Given the description of an element on the screen output the (x, y) to click on. 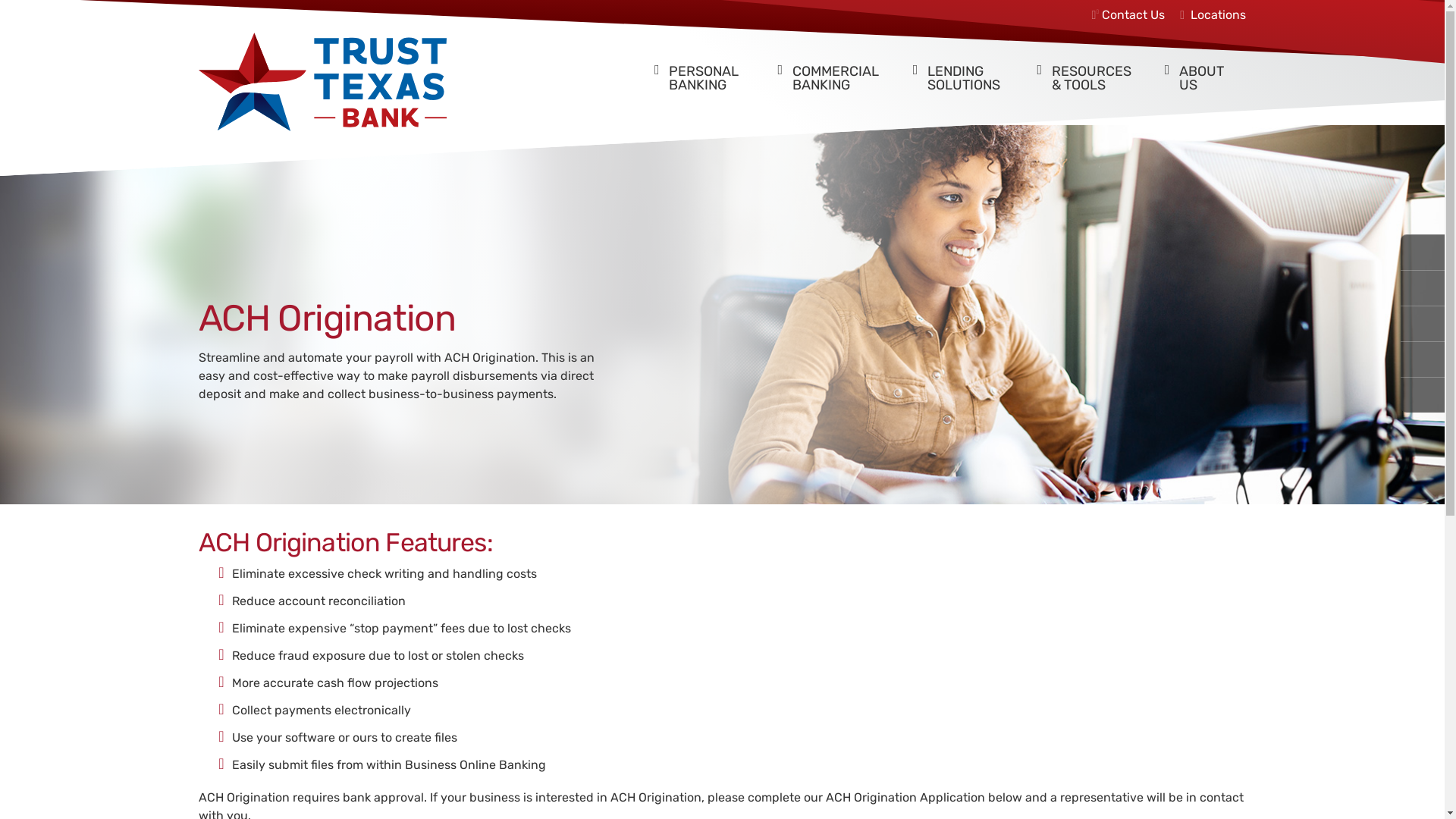
PERSONAL BANKING Element type: text (700, 68)
Chat with Us Element type: text (1422, 359)
Contact Us Element type: text (1132, 15)
ABOUT US Element type: text (1197, 68)
LENDING SOLUTIONS Element type: text (959, 68)
COMMERCIAL BANKING Element type: text (829, 68)
RESOURCES & TOOLS Element type: text (1085, 68)
Login Element type: text (1422, 324)
Locations Element type: text (1210, 15)
